Given the description of an element on the screen output the (x, y) to click on. 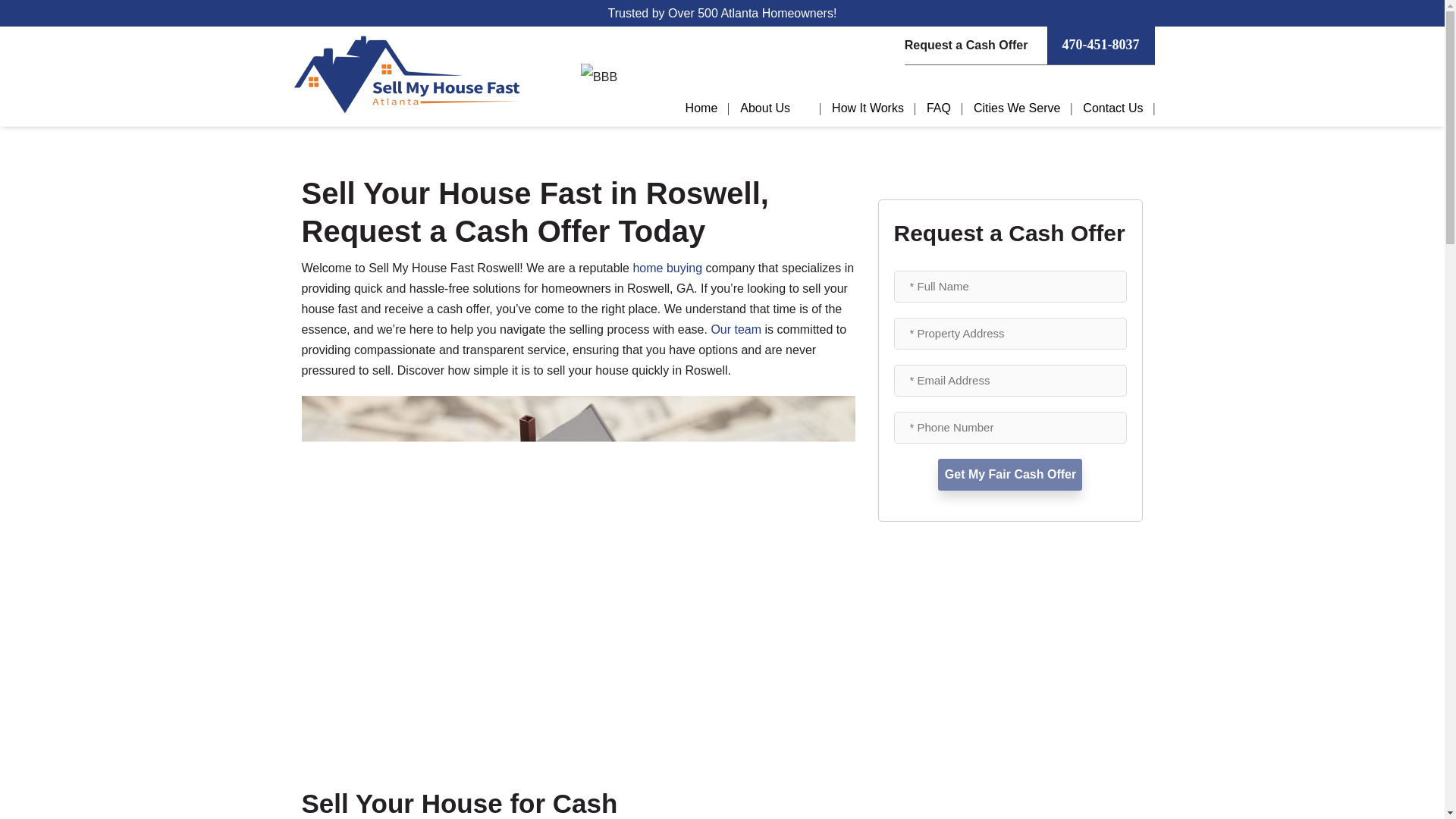
home buying (666, 267)
Get My Fair Cash Offer (1009, 474)
How It Works (868, 108)
FAQ (938, 108)
470-451-8037 (1100, 45)
Our team (735, 328)
Cities We Serve (1016, 108)
Get My Fair Cash Offer (1009, 474)
About Us (775, 108)
Home (701, 108)
